Given the description of an element on the screen output the (x, y) to click on. 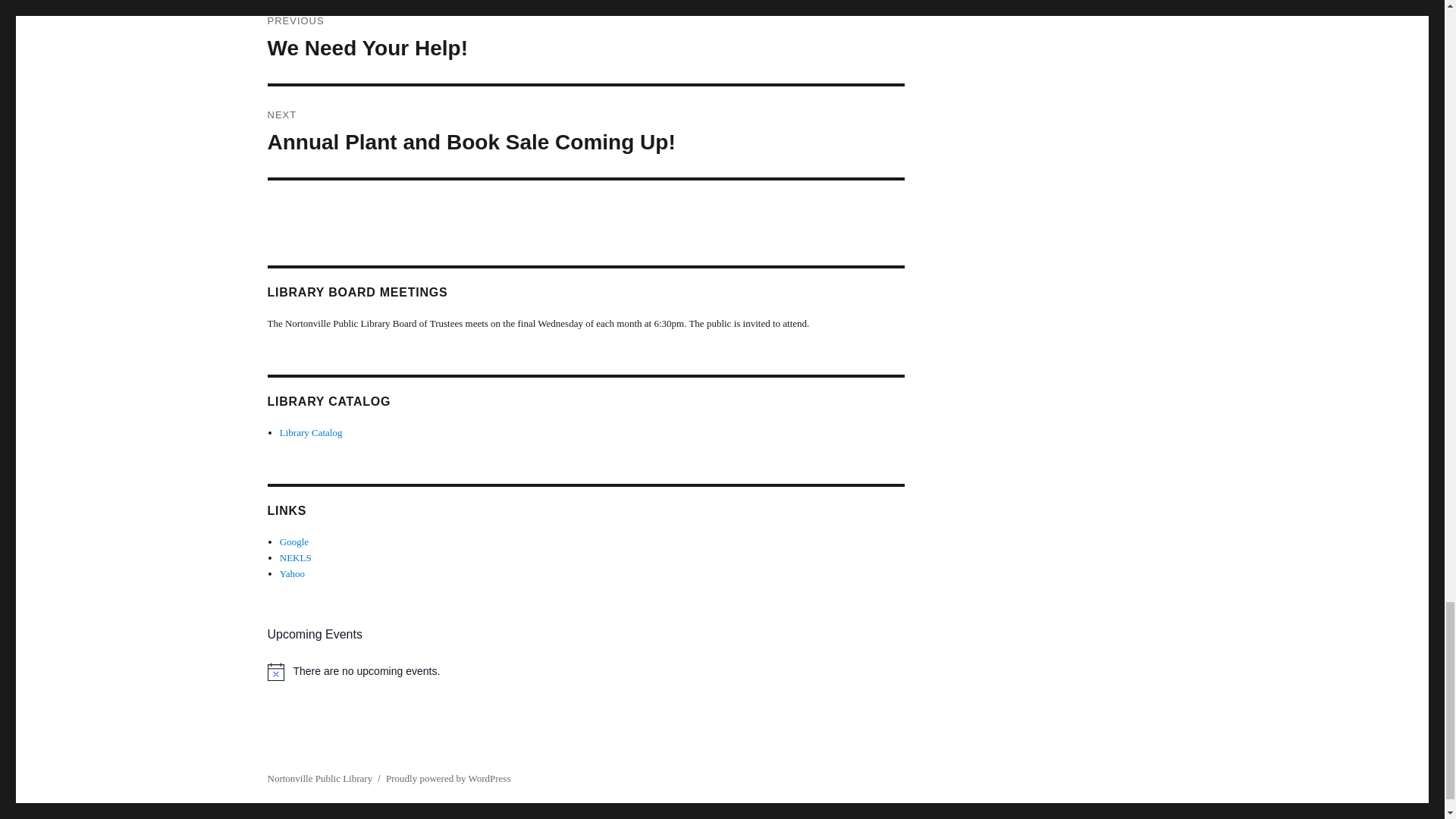
Proudly powered by WordPress (448, 778)
Google (293, 541)
Yahoo (291, 573)
Library Catalog (585, 41)
Nortonville Public Library (310, 432)
NEKLS (319, 778)
Find books and other materials (295, 557)
